Given the description of an element on the screen output the (x, y) to click on. 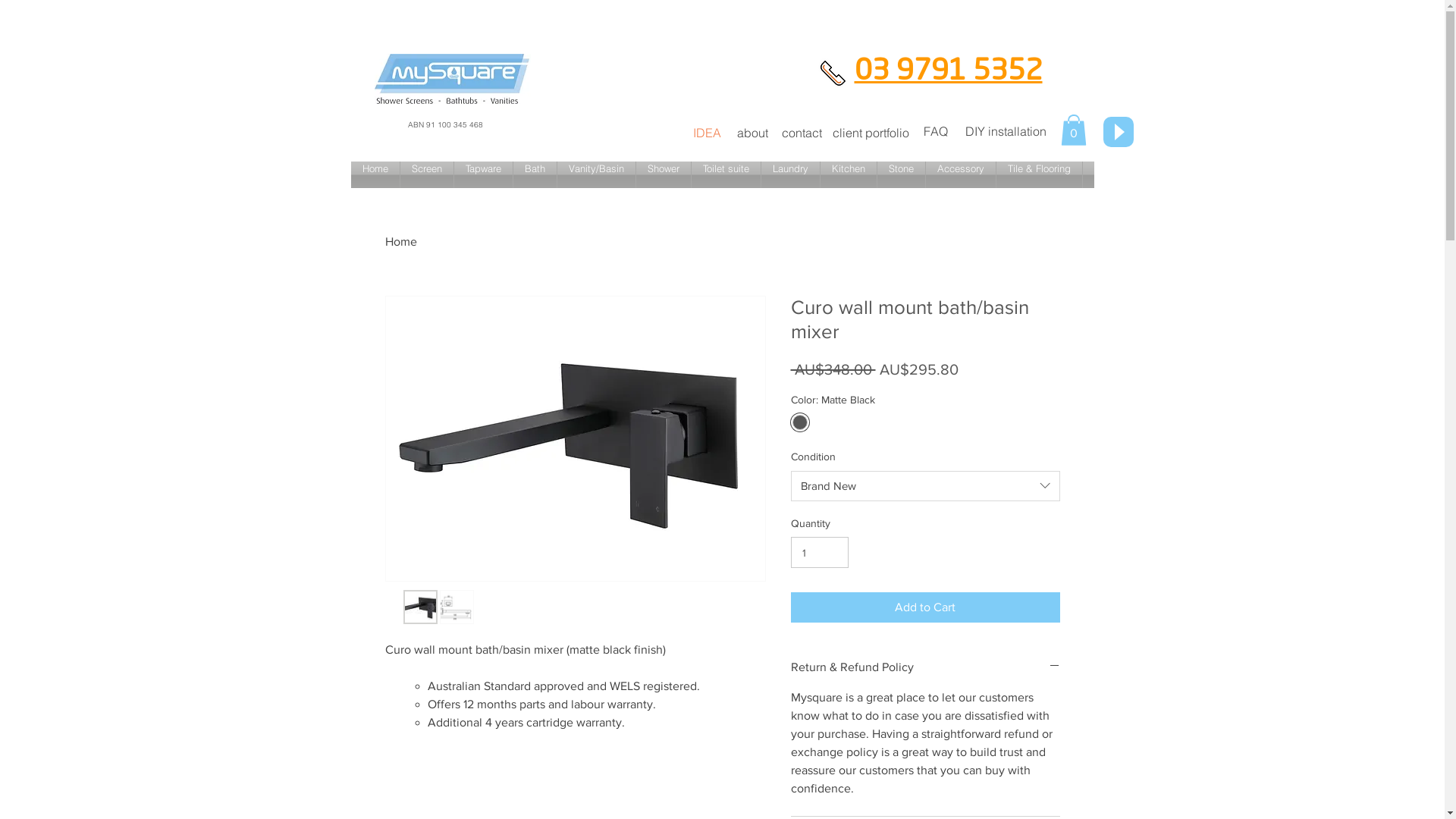
Stone Element type: text (900, 174)
Toilet suite Element type: text (725, 174)
Home Element type: text (374, 174)
Tile & Flooring Element type: text (1039, 174)
Bath Element type: text (533, 174)
Vanity/Basin Element type: text (595, 174)
mysquare logo FA outline.jpg Element type: hover (452, 78)
Home Element type: text (401, 241)
Tapware Element type: text (482, 174)
about Element type: text (752, 132)
Accessory Element type: text (959, 174)
DIY installation Element type: text (1004, 131)
03 9791 5352 Element type: text (947, 69)
Kitchen Element type: text (848, 174)
Add to Cart Element type: text (924, 607)
Brand New Element type: text (924, 485)
Laundry Element type: text (790, 174)
Screen Element type: text (426, 174)
0 Element type: text (1072, 129)
Shower Element type: text (662, 174)
contact Element type: text (801, 132)
IDEA Element type: text (707, 132)
Return & Refund Policy Element type: text (924, 666)
